Given the description of an element on the screen output the (x, y) to click on. 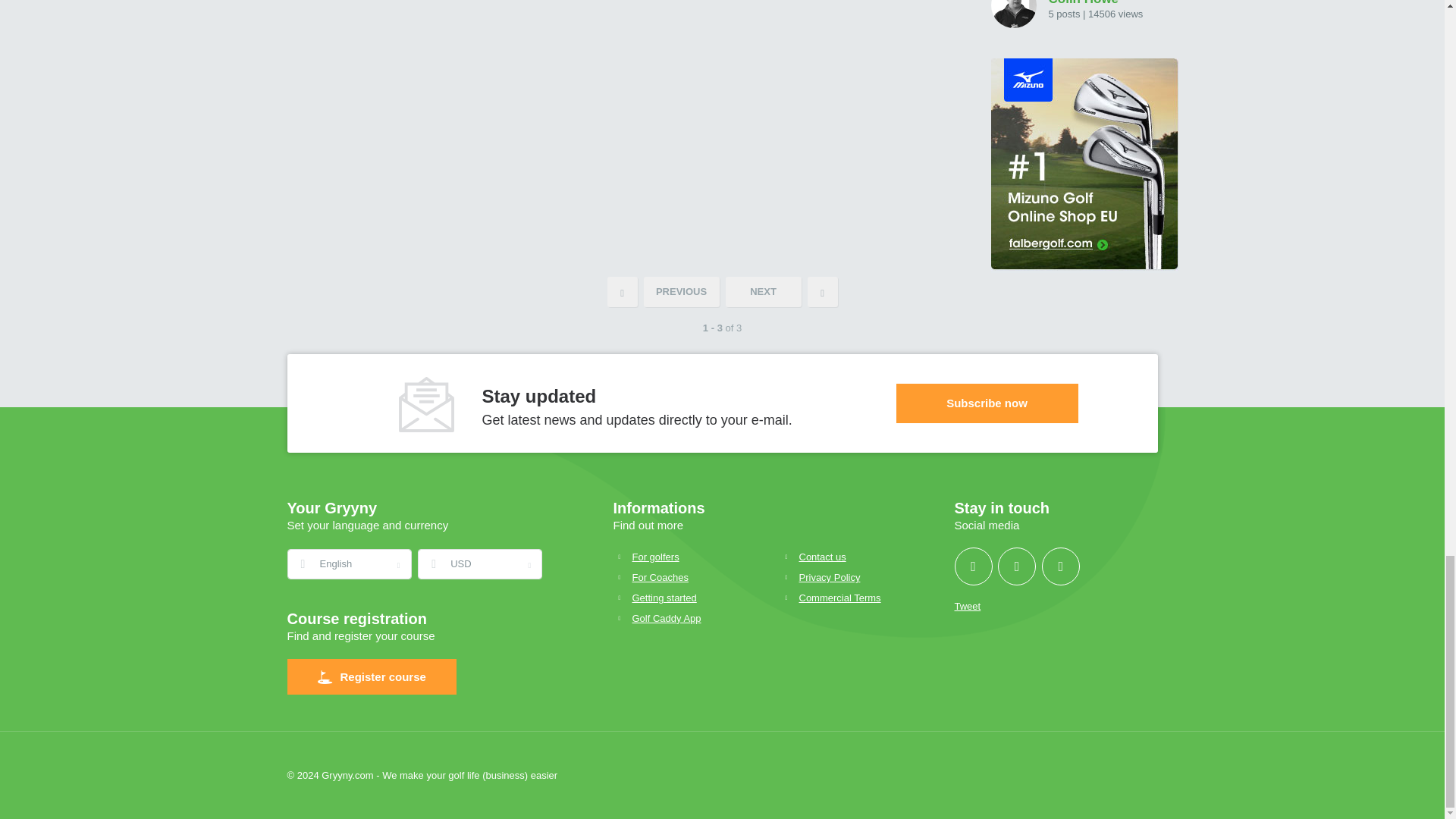
First (622, 291)
Last (821, 291)
